Given the description of an element on the screen output the (x, y) to click on. 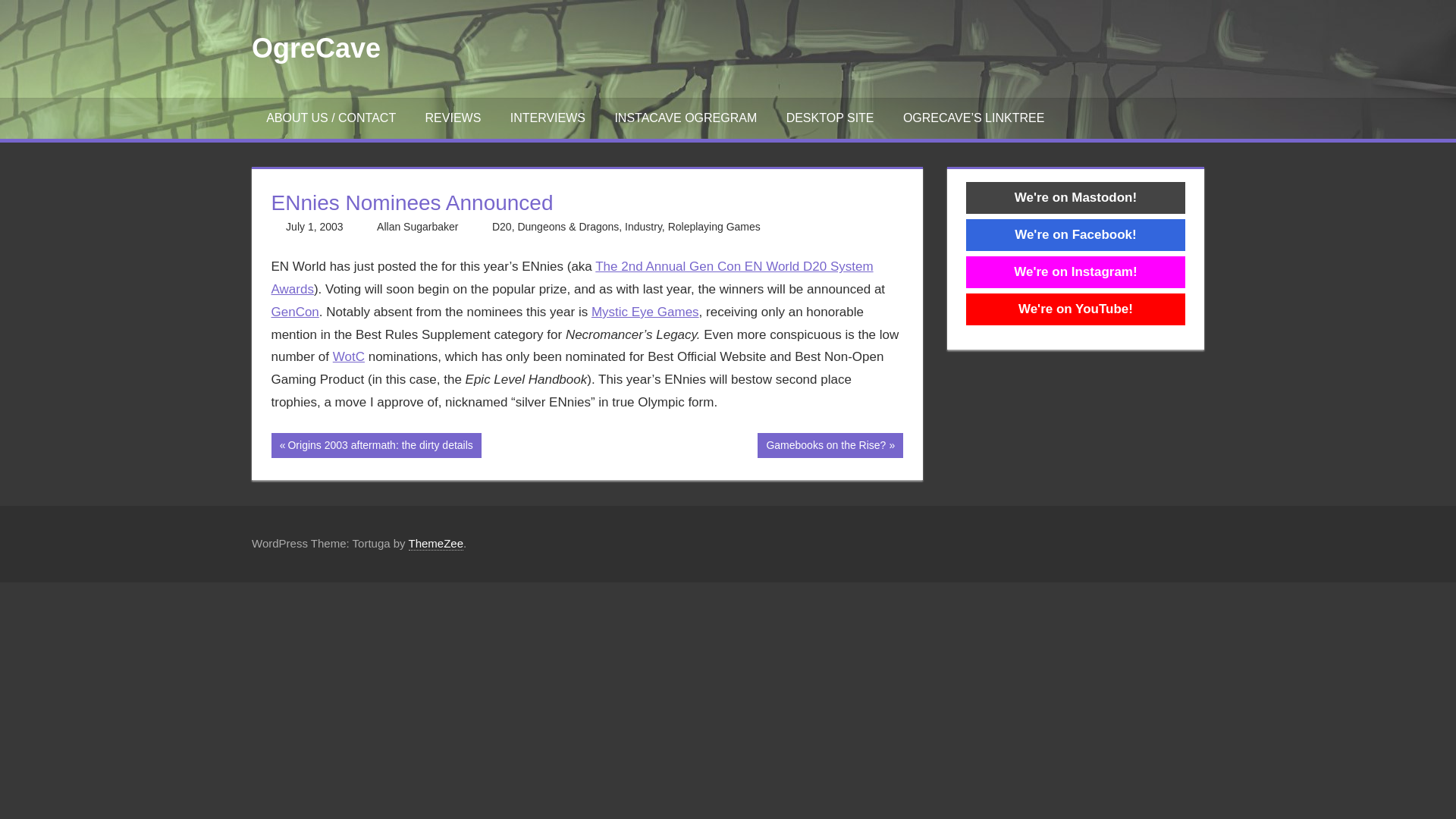
We're on Instagram! (1075, 271)
Allan Sugarbaker (375, 445)
ThemeZee (417, 226)
OgreCave (435, 543)
We're on Facebook! (315, 47)
WotC (1075, 234)
Roleplaying Games (349, 356)
View all posts by Allan Sugarbaker (714, 226)
Industry (417, 226)
